Given the description of an element on the screen output the (x, y) to click on. 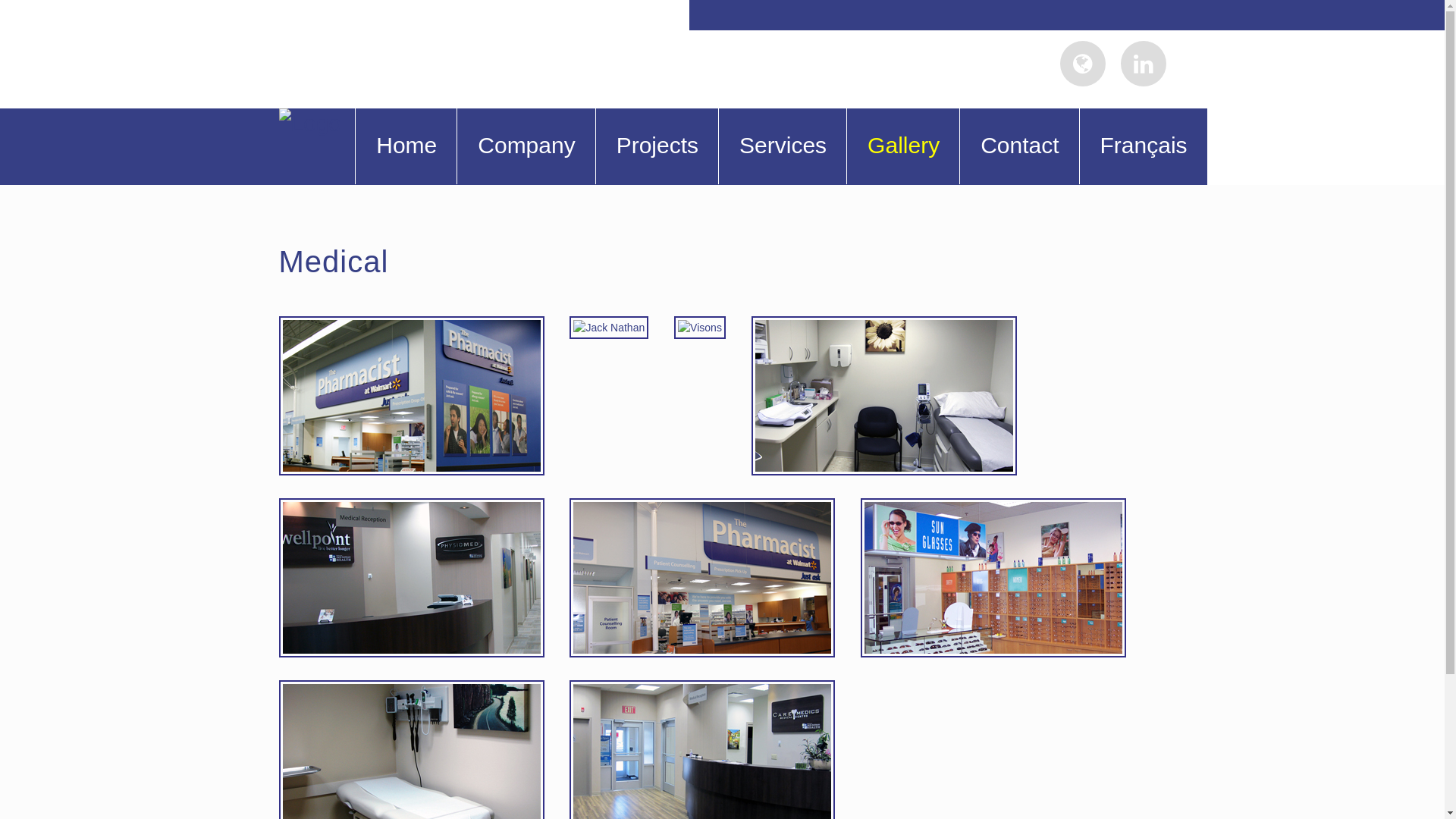
Services Element type: text (782, 146)
Contact Element type: text (1018, 146)
The Clinic at Walmart Element type: hover (423, 323)
Jack Nathan Health Element type: hover (620, 323)
Jack Nathan Health Element type: hover (713, 687)
Visions Center Element type: hover (1004, 505)
The Clinic at Walmart Element type: hover (713, 505)
Visions Center Element type: hover (711, 323)
Jack Nathan Health Element type: hover (895, 323)
Company Element type: text (525, 146)
Gallery Element type: text (902, 146)
Projects Element type: text (656, 146)
Jack Nathan Health Element type: hover (423, 505)
Home Element type: text (405, 146)
Jack Nathan Health Element type: hover (423, 687)
